Given the description of an element on the screen output the (x, y) to click on. 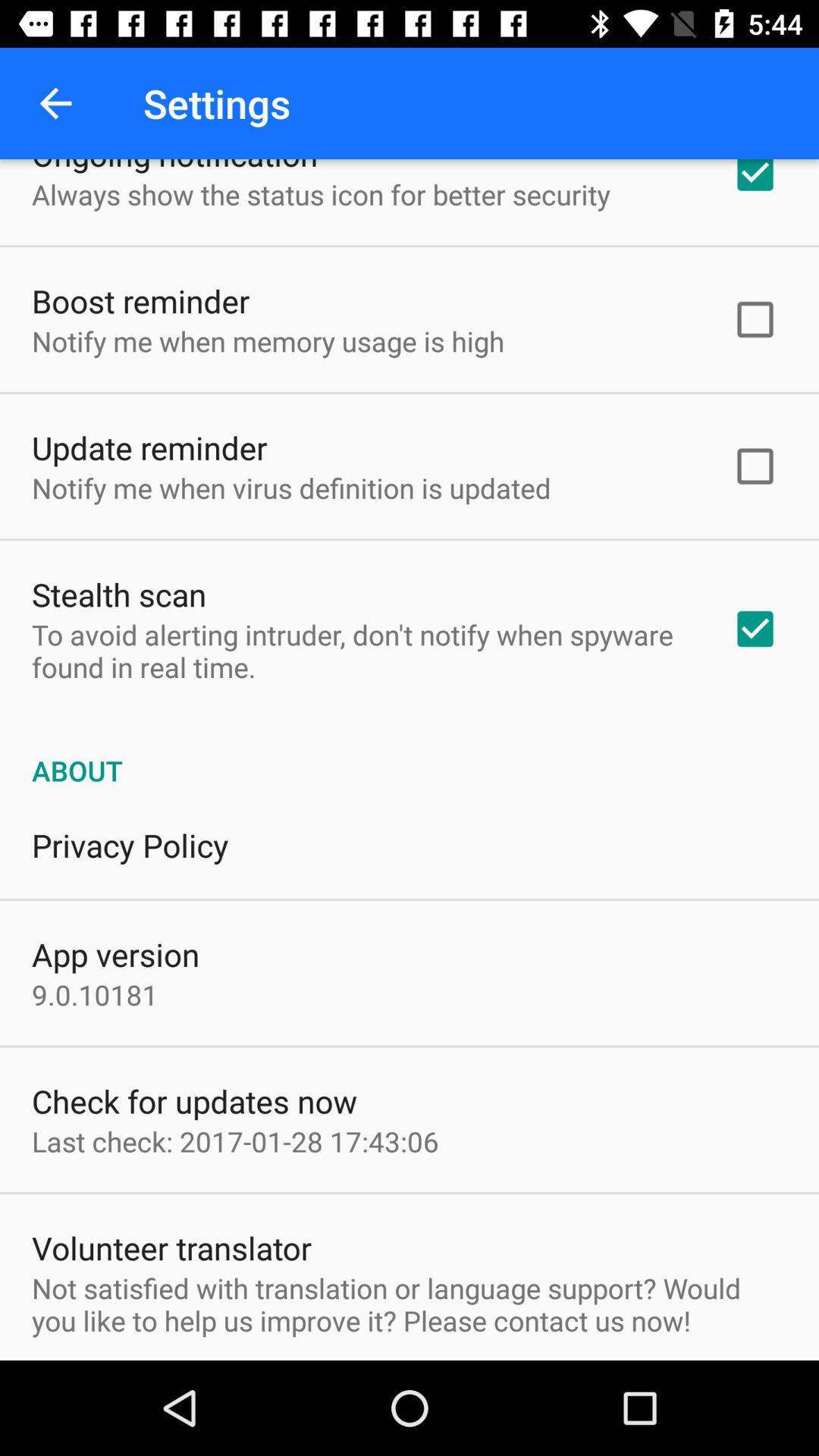
turn off not satisfied with (409, 1304)
